Given the description of an element on the screen output the (x, y) to click on. 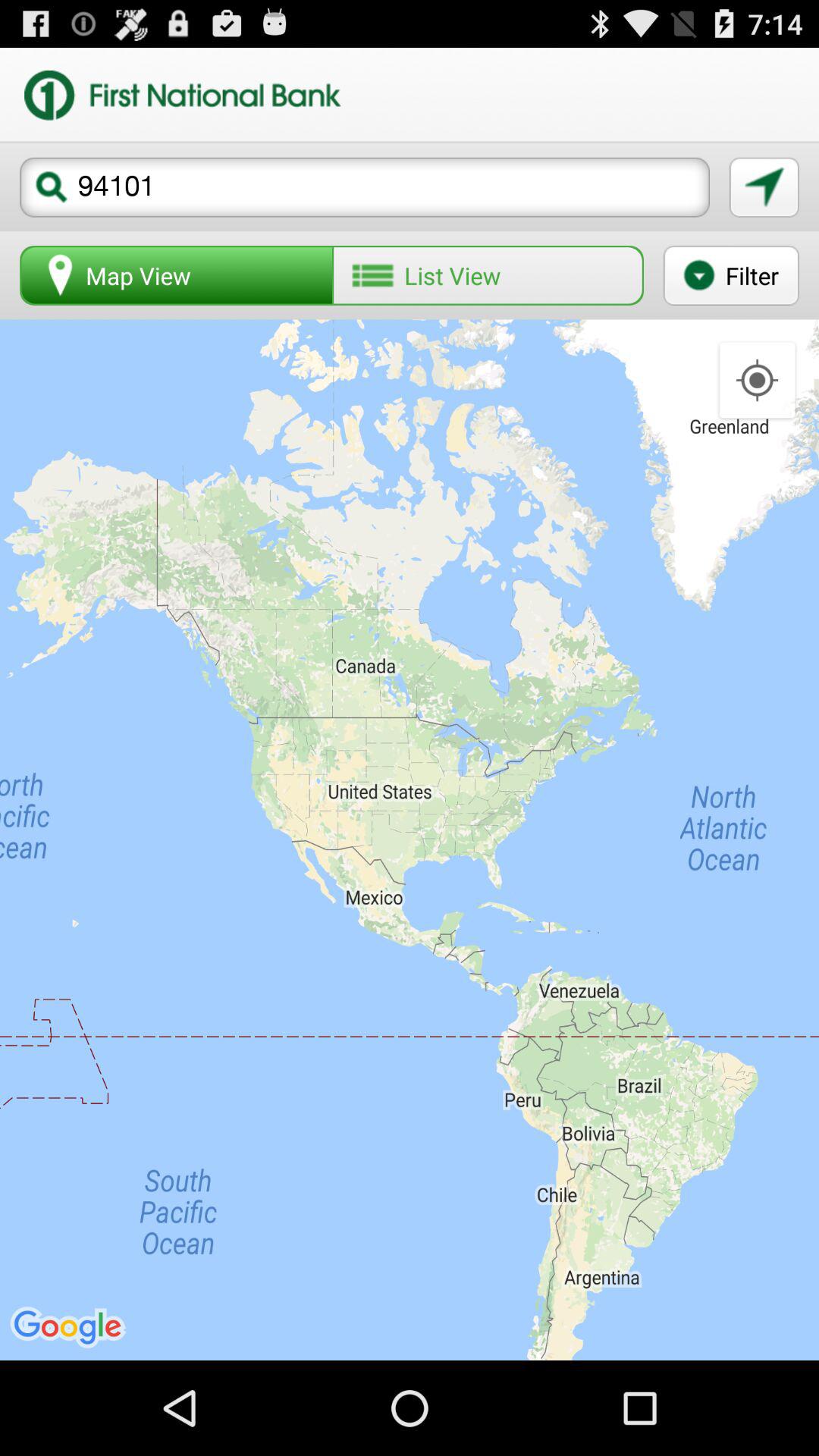
open item next to the map view (487, 275)
